Given the description of an element on the screen output the (x, y) to click on. 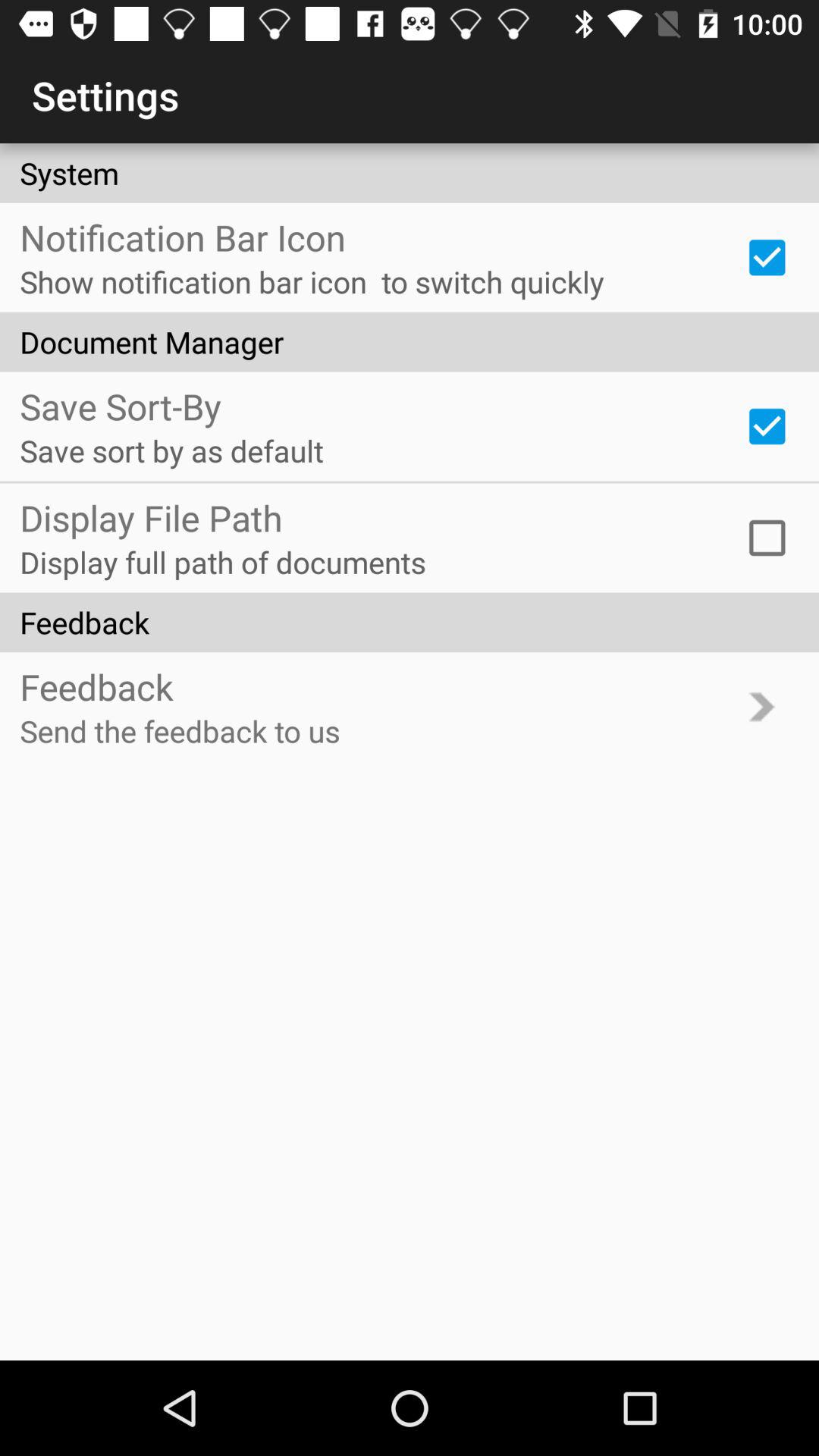
select display file path (767, 537)
